Given the description of an element on the screen output the (x, y) to click on. 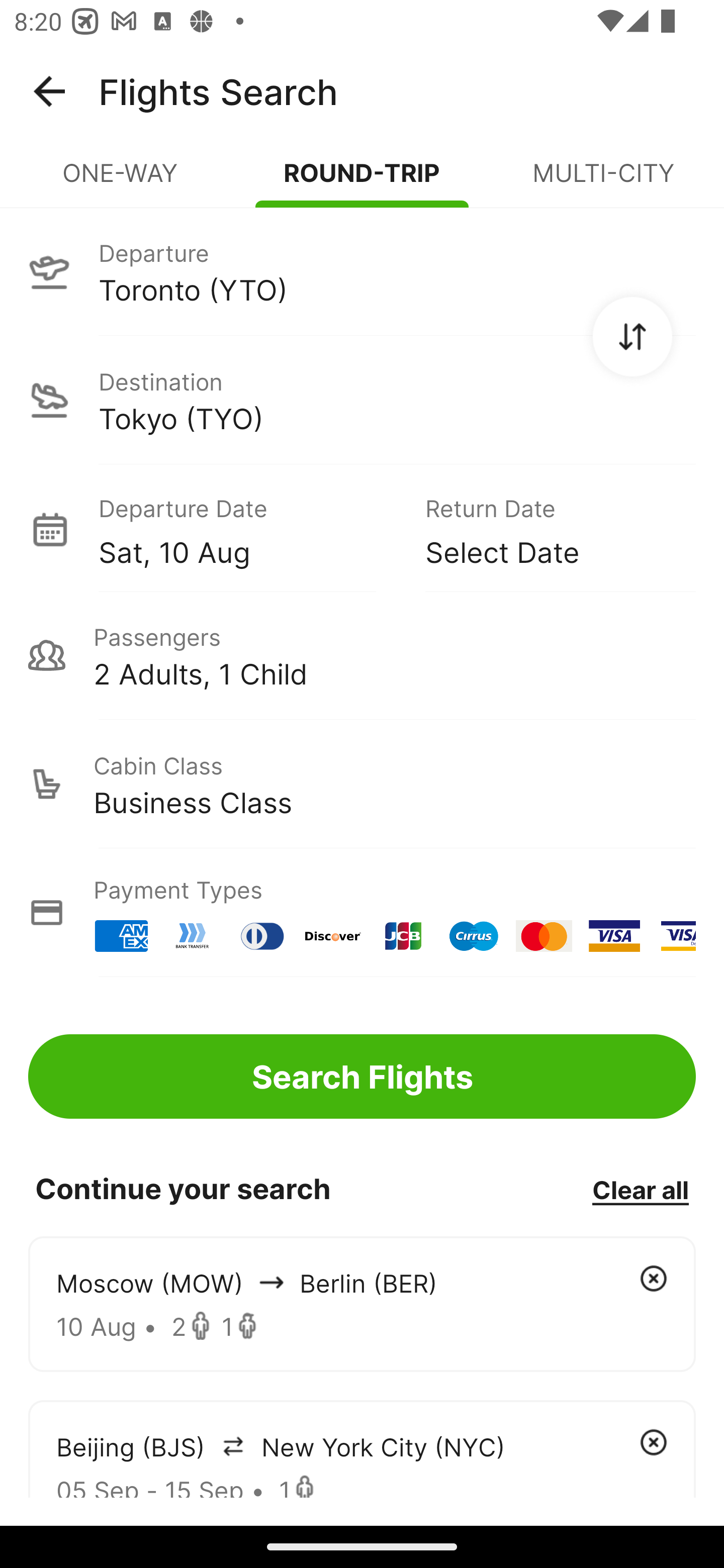
ONE-WAY (120, 180)
ROUND-TRIP (361, 180)
MULTI-CITY (603, 180)
Departure Toronto (YTO) (362, 270)
Destination Tokyo (TYO) (362, 400)
Departure Date Sat, 10 Aug (247, 528)
Return Date Select Date (546, 528)
Passengers 2 Adults, 1 Child (362, 655)
Cabin Class Business Class (362, 783)
Payment Types (362, 912)
Search Flights (361, 1075)
Clear all (640, 1189)
